Given the description of an element on the screen output the (x, y) to click on. 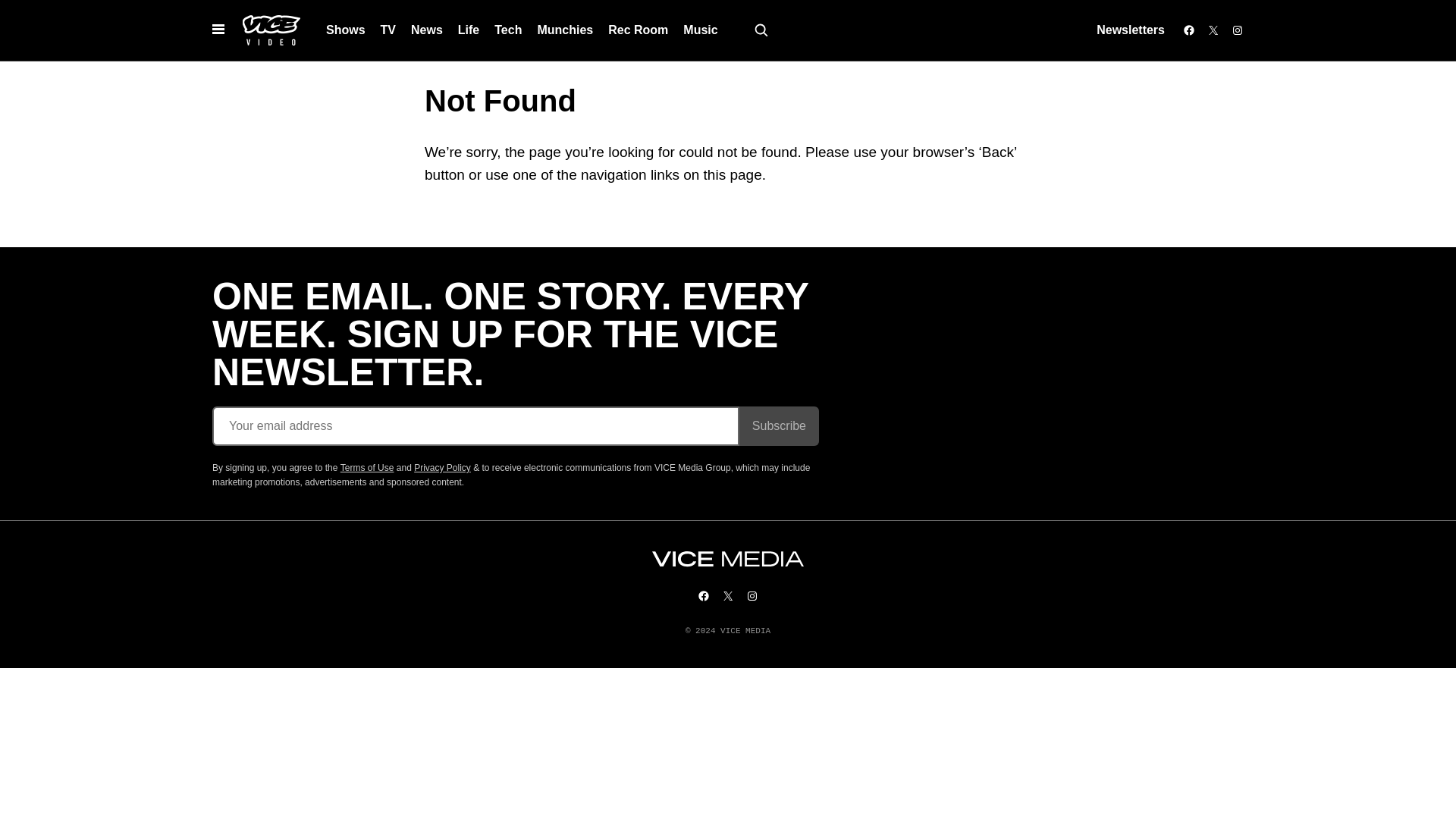
X (1213, 30)
Shows (345, 29)
Privacy Policy (441, 467)
Music (700, 29)
Open Menu (217, 30)
FACEBOOK (703, 595)
Facebook (1188, 30)
Tech (507, 29)
INSTAGRAM (751, 595)
Instagram (1237, 30)
